Given the description of an element on the screen output the (x, y) to click on. 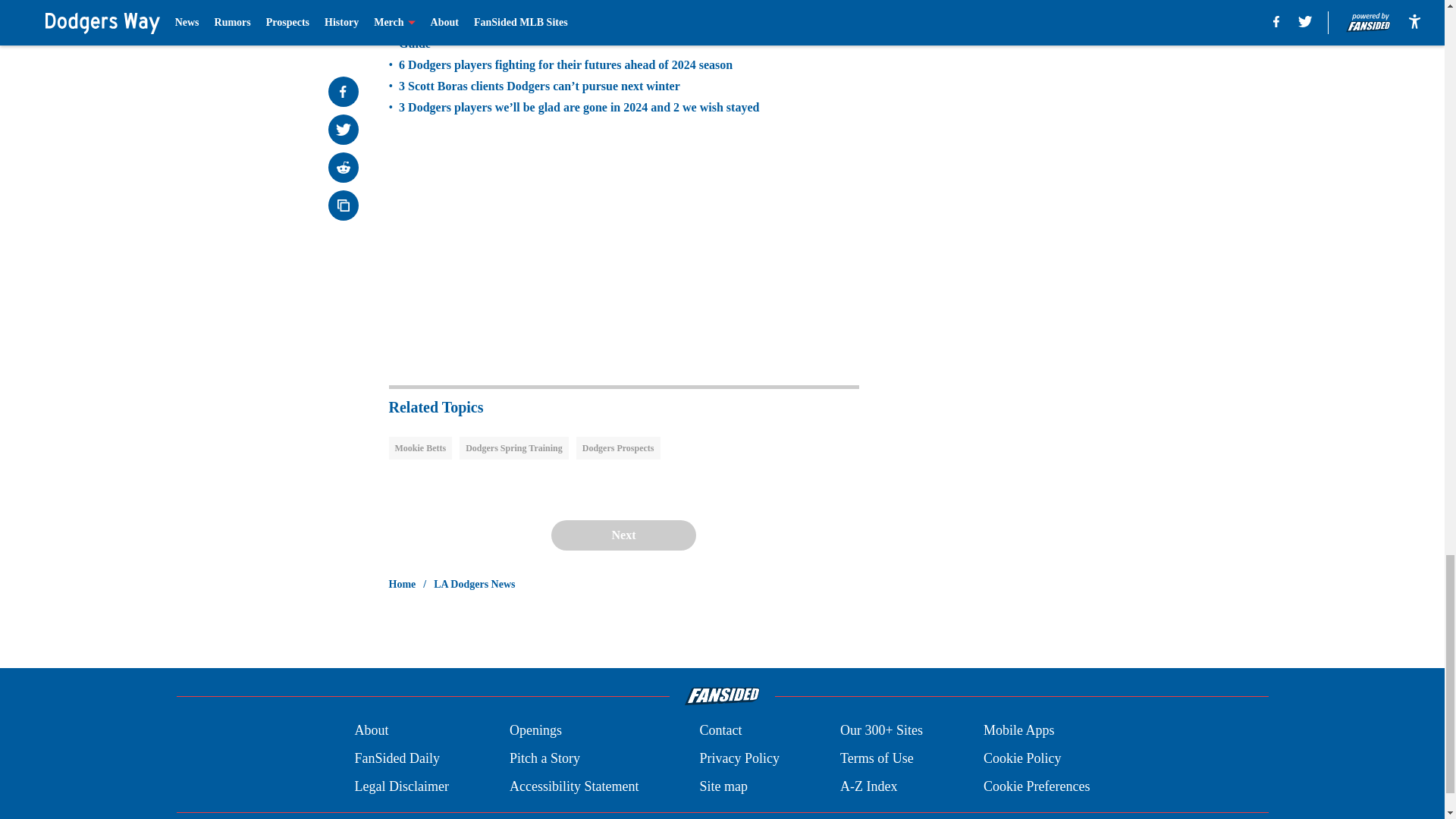
About (370, 730)
Openings (535, 730)
Dodgers Prospects (618, 447)
Dodgers Spring Training (514, 447)
Home (401, 584)
LA Dodgers News (474, 584)
Next (622, 535)
Mookie Betts (419, 447)
